Given the description of an element on the screen output the (x, y) to click on. 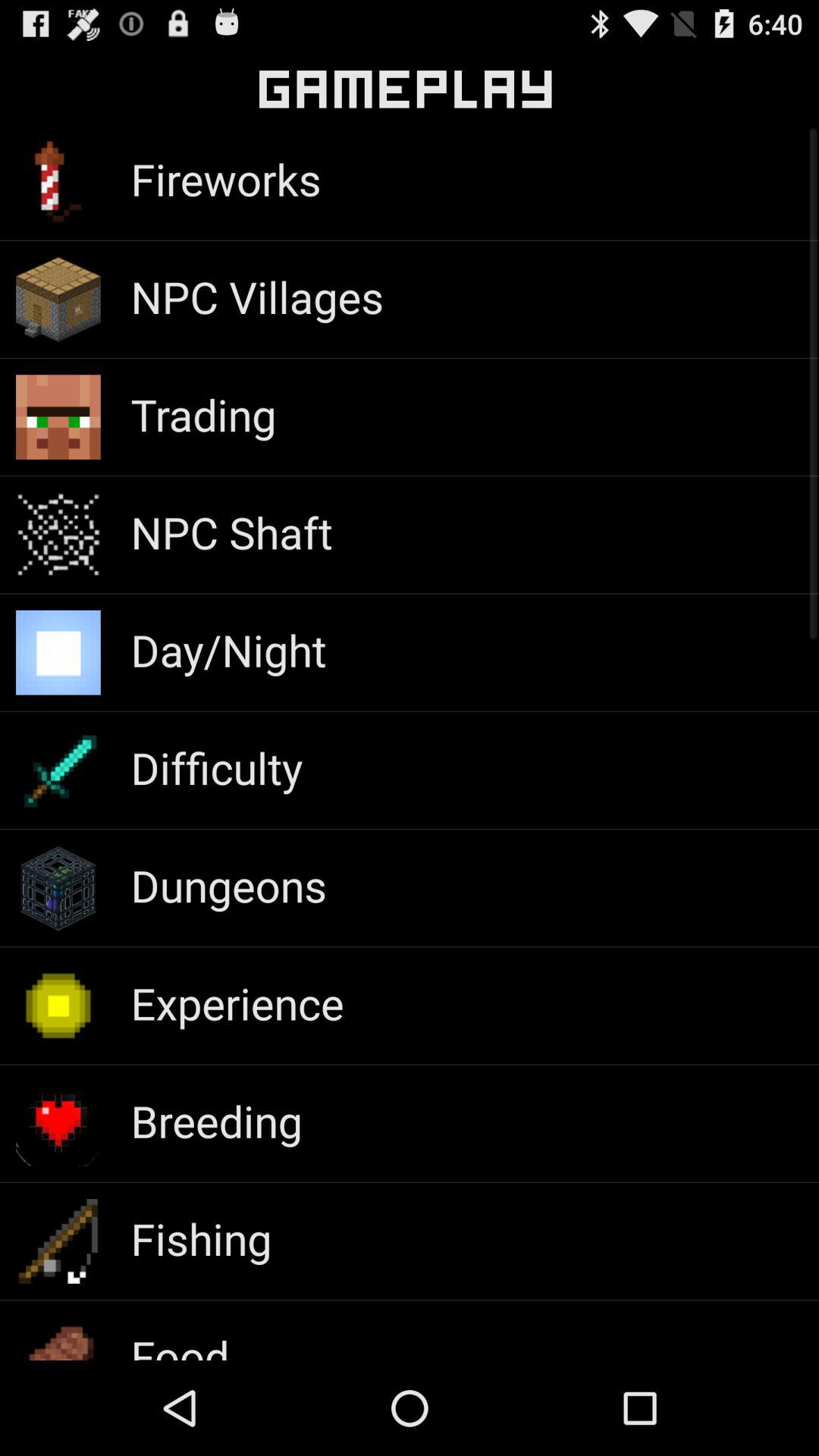
turn off the difficulty icon (216, 767)
